Given the description of an element on the screen output the (x, y) to click on. 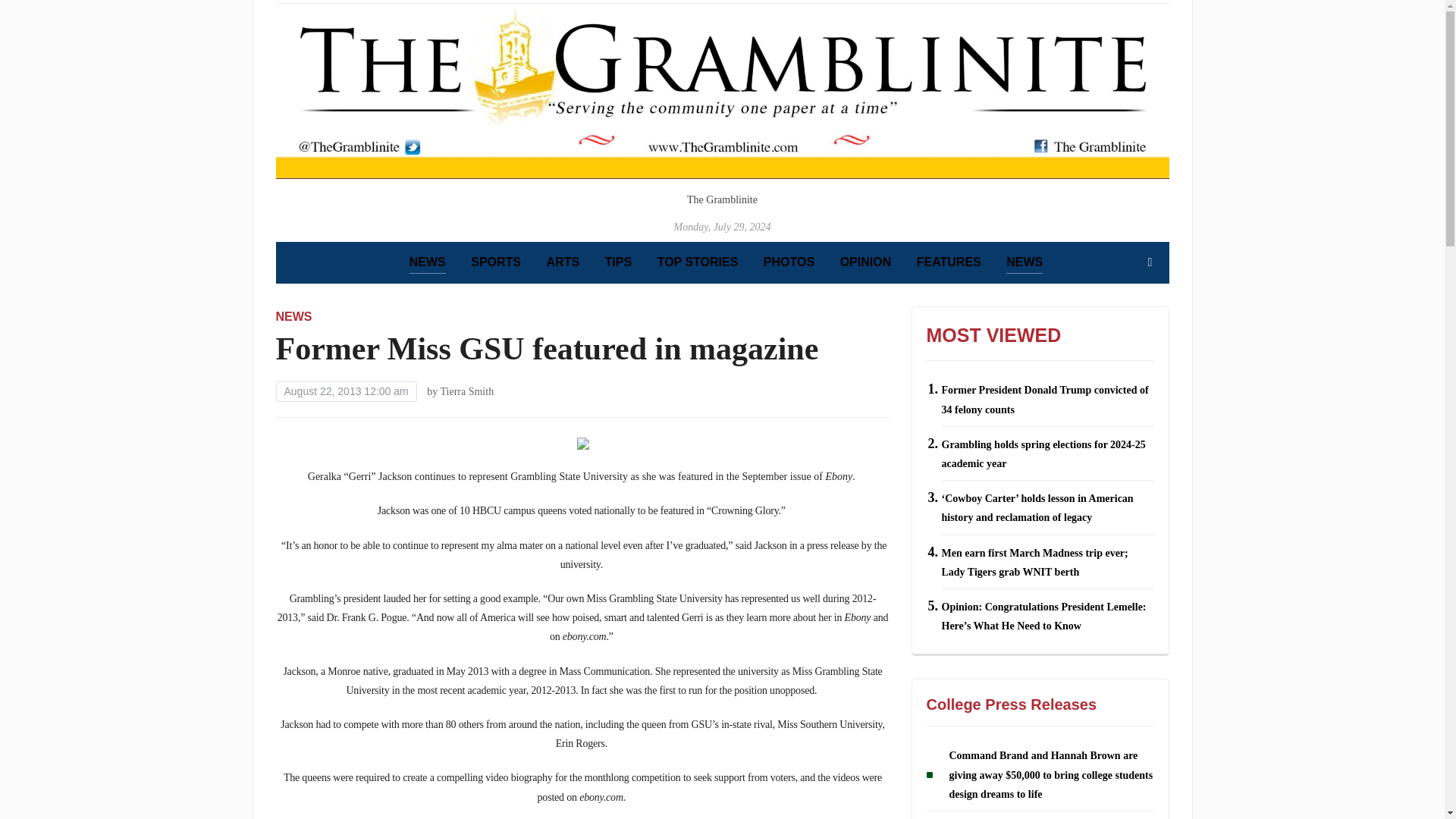
PHOTOS (787, 262)
TIPS (618, 262)
Grambling holds spring elections for 2024-25 academic year (1043, 453)
OPINION (865, 262)
FEATURES (949, 262)
TOP STORIES (698, 262)
Search (1149, 262)
NEWS (427, 262)
Former President Donald Trump convicted of 34 felony counts (1045, 399)
ARTS (563, 262)
SPORTS (495, 262)
NEWS (1024, 262)
